Given the description of an element on the screen output the (x, y) to click on. 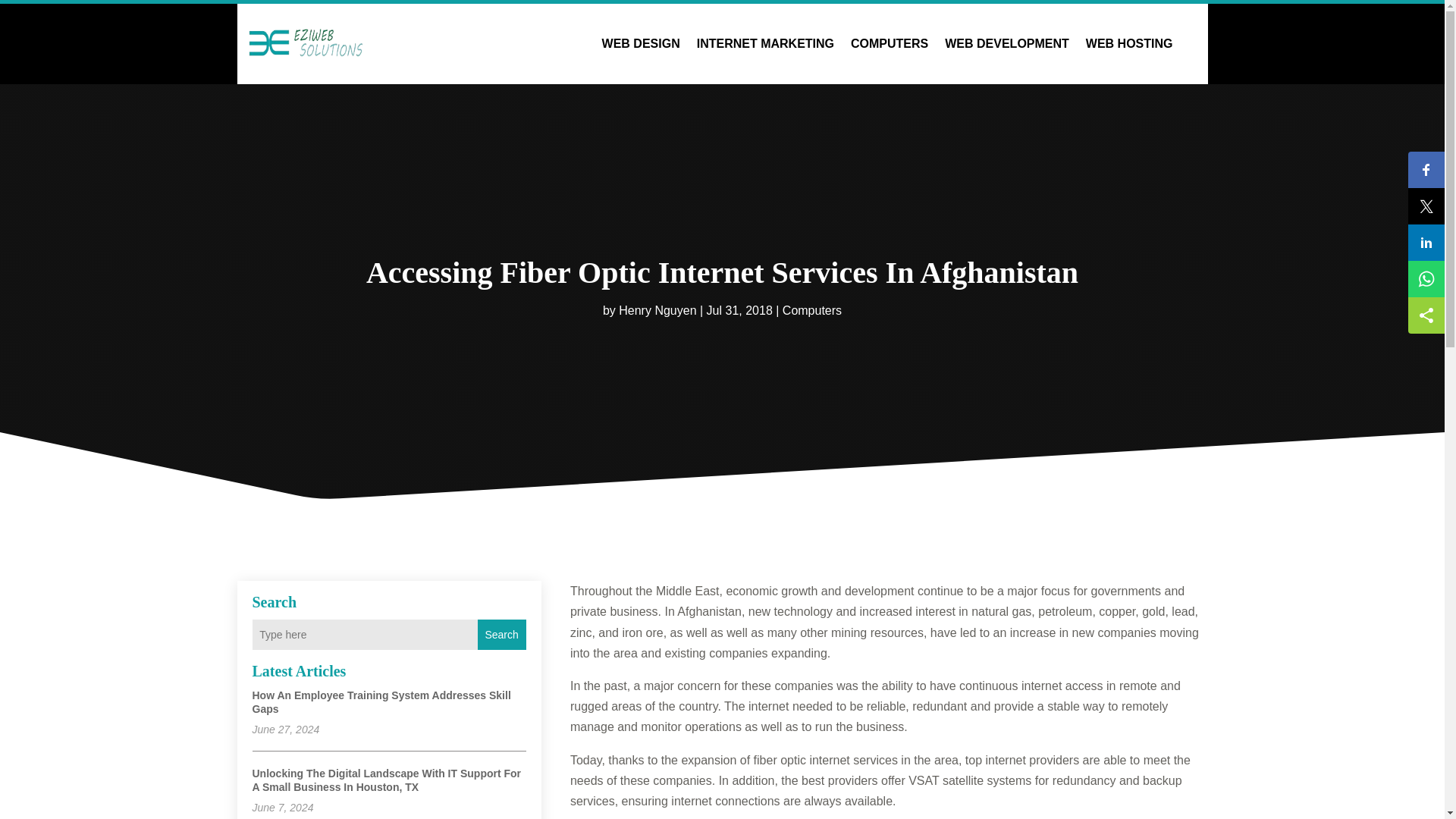
Posts by Henry Nguyen (656, 309)
How An Employee Training System Addresses Skill Gaps (381, 701)
WEB DESIGN (640, 43)
Search (501, 634)
INTERNET MARKETING (765, 43)
WEB DEVELOPMENT (1006, 43)
COMPUTERS (889, 43)
Computers (812, 309)
Henry Nguyen (656, 309)
WEB HOSTING (1129, 43)
